Given the description of an element on the screen output the (x, y) to click on. 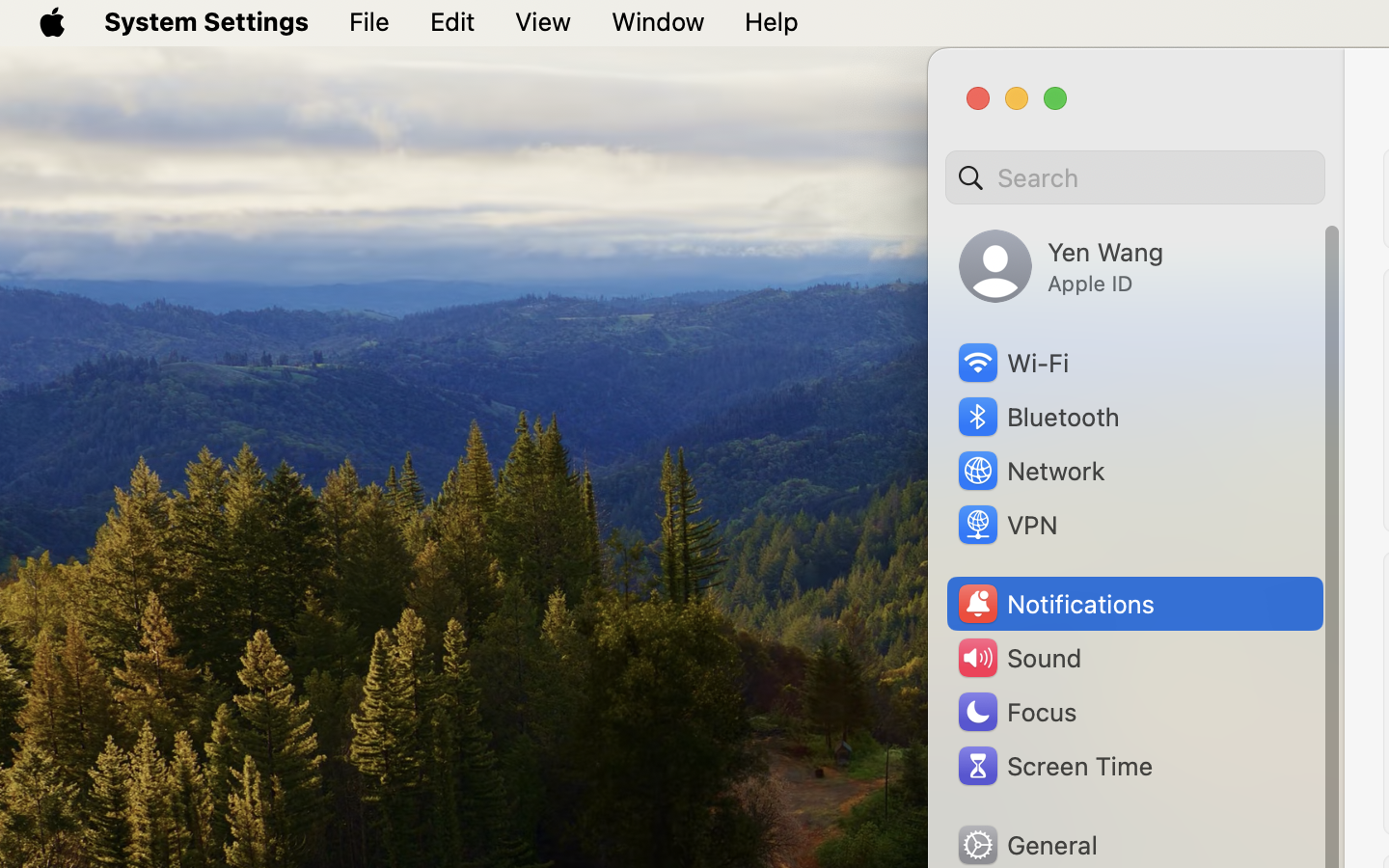
Yen Wang, Apple ID Element type: AXStaticText (1060, 265)
Sound Element type: AXStaticText (1018, 657)
VPN Element type: AXStaticText (1005, 524)
General Element type: AXStaticText (1025, 844)
Focus Element type: AXStaticText (1015, 711)
